Given the description of an element on the screen output the (x, y) to click on. 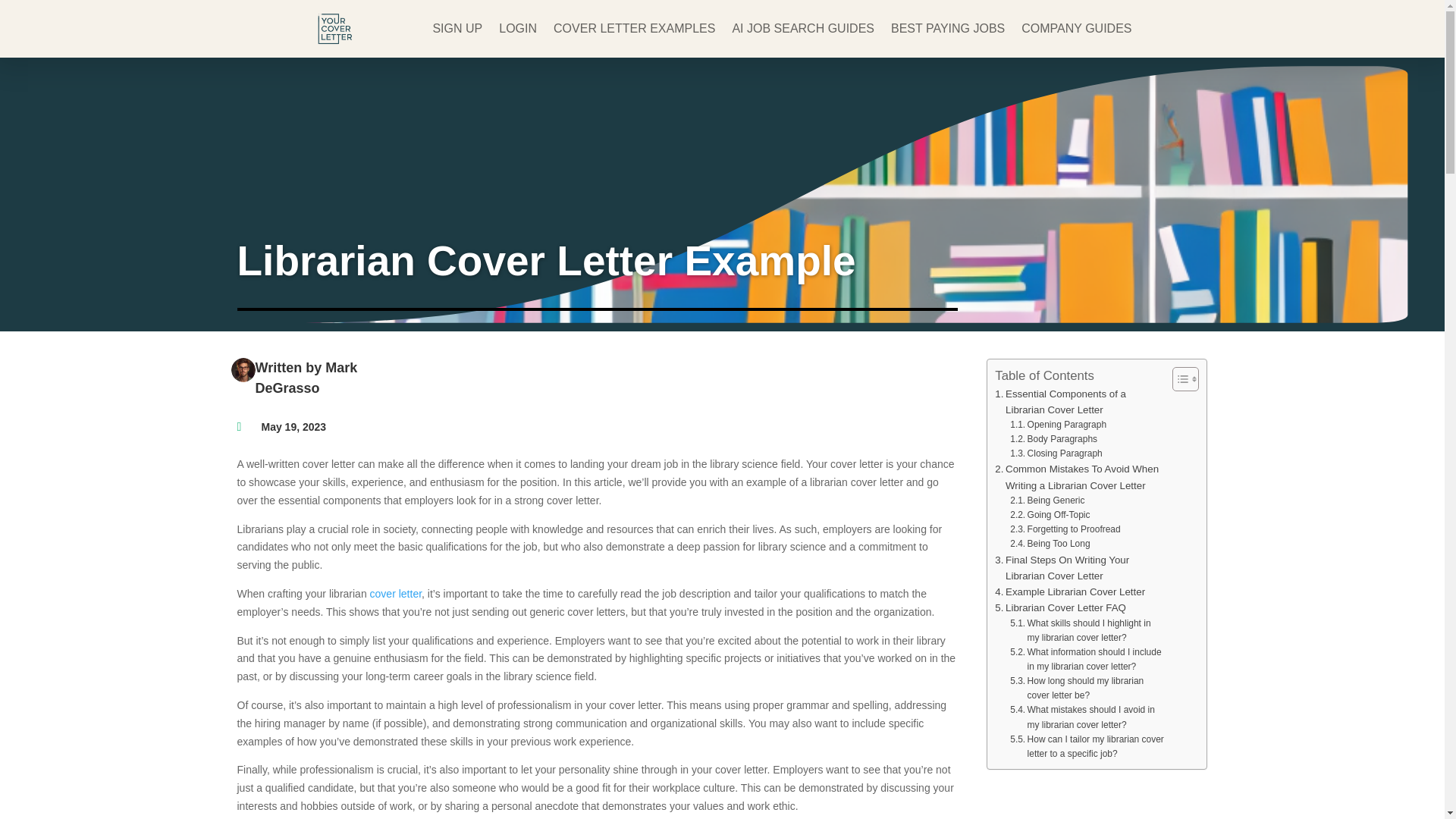
Body Paragraphs (1053, 439)
Example Librarian Cover Letter (1069, 591)
What skills should I highlight in my librarian cover letter? (1087, 630)
Being Generic (1047, 500)
Closing Paragraph (1056, 453)
How long should my librarian cover letter be? (1087, 688)
Essential Components of a Librarian Cover Letter (1079, 400)
What mistakes should I avoid in my librarian cover letter? (1087, 717)
Forgetting to Proofread (1064, 529)
Example Librarian Cover Letter (1069, 591)
Being Generic (1047, 500)
